Given the description of an element on the screen output the (x, y) to click on. 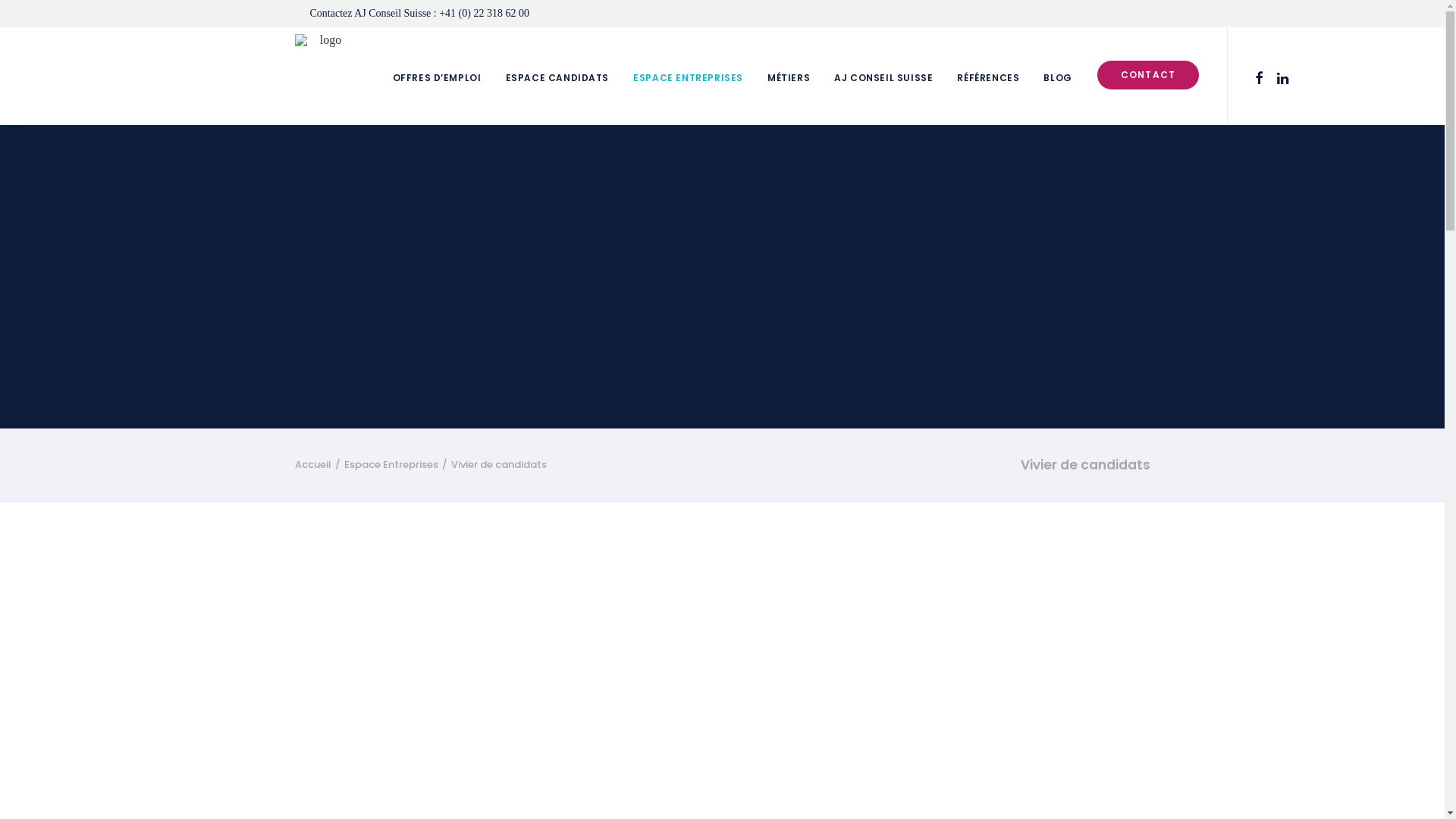
Espace Entreprises Element type: text (391, 464)
Accueil Element type: text (312, 464)
CONTACT Element type: text (1142, 107)
ESPACE ENTREPRISES Element type: text (687, 75)
ESPACE CANDIDATS Element type: text (556, 75)
BLOG Element type: text (1057, 75)
AJ CONSEIL SUISSE Element type: text (883, 75)
